Given the description of an element on the screen output the (x, y) to click on. 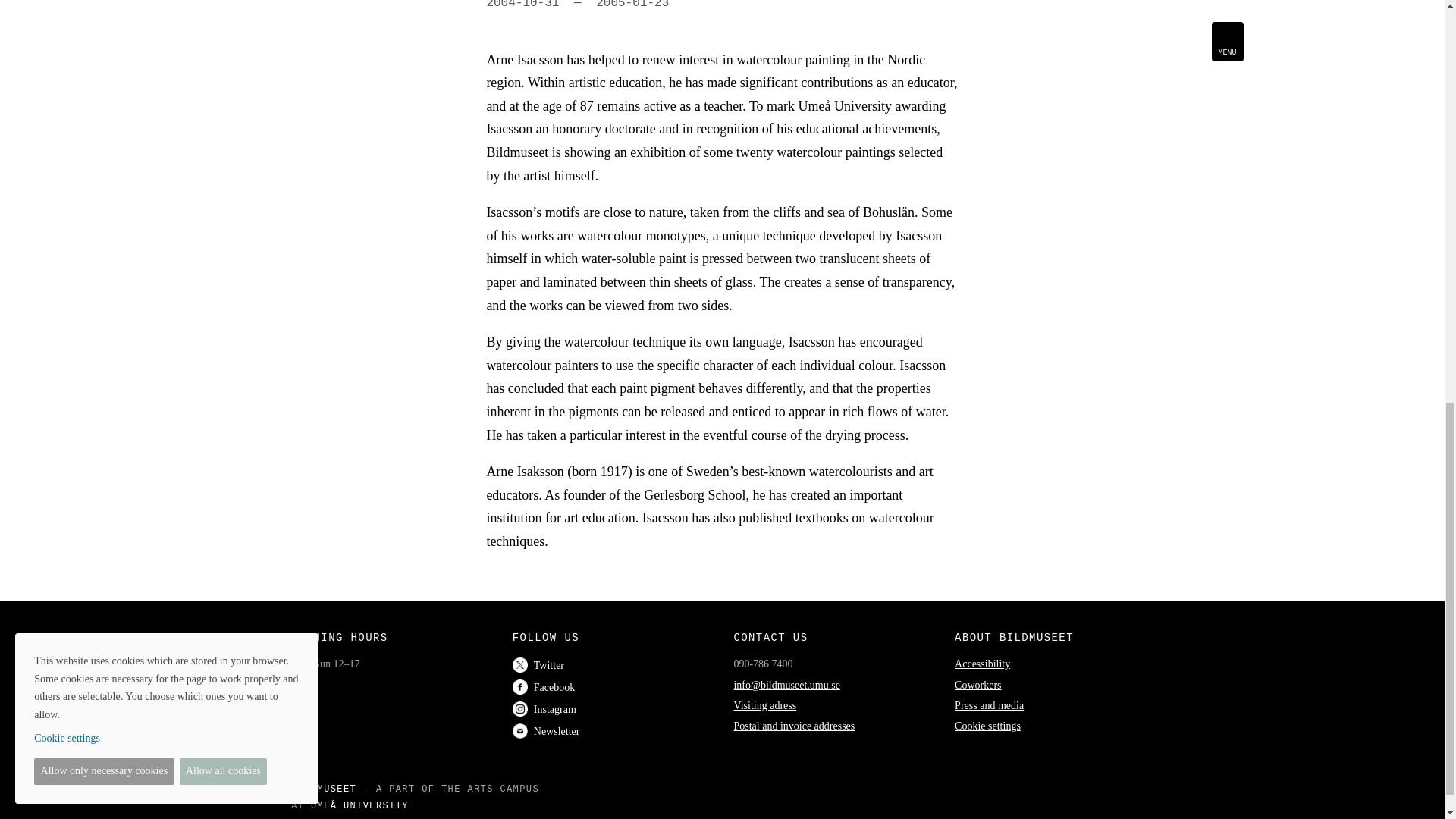
Visiting adress (764, 705)
BILDMUSEET (323, 788)
Postal and invoice addresses (793, 726)
Twitter (538, 665)
Facebook (543, 686)
Press and media (989, 705)
Coworkers (978, 685)
Newsletter (545, 731)
Accessibility (982, 663)
Instagram (544, 708)
Cookie settings (987, 726)
